Given the description of an element on the screen output the (x, y) to click on. 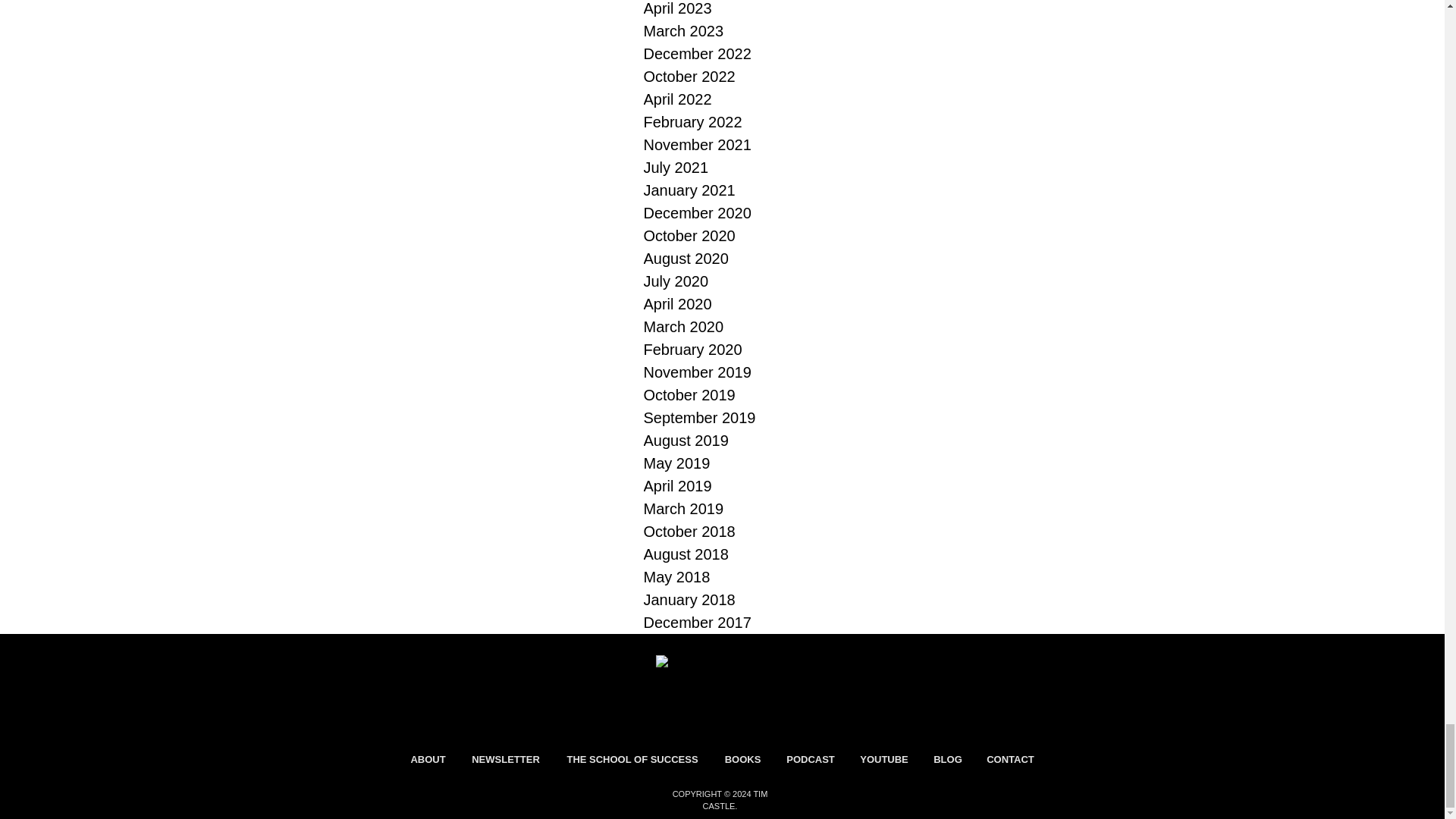
October 2022 (721, 76)
April 2022 (721, 98)
December 2022 (721, 53)
December 2020 (721, 212)
February 2022 (721, 121)
November 2021 (721, 144)
July 2021 (721, 167)
April 2023 (721, 9)
January 2021 (721, 190)
March 2023 (721, 30)
